Given the description of an element on the screen output the (x, y) to click on. 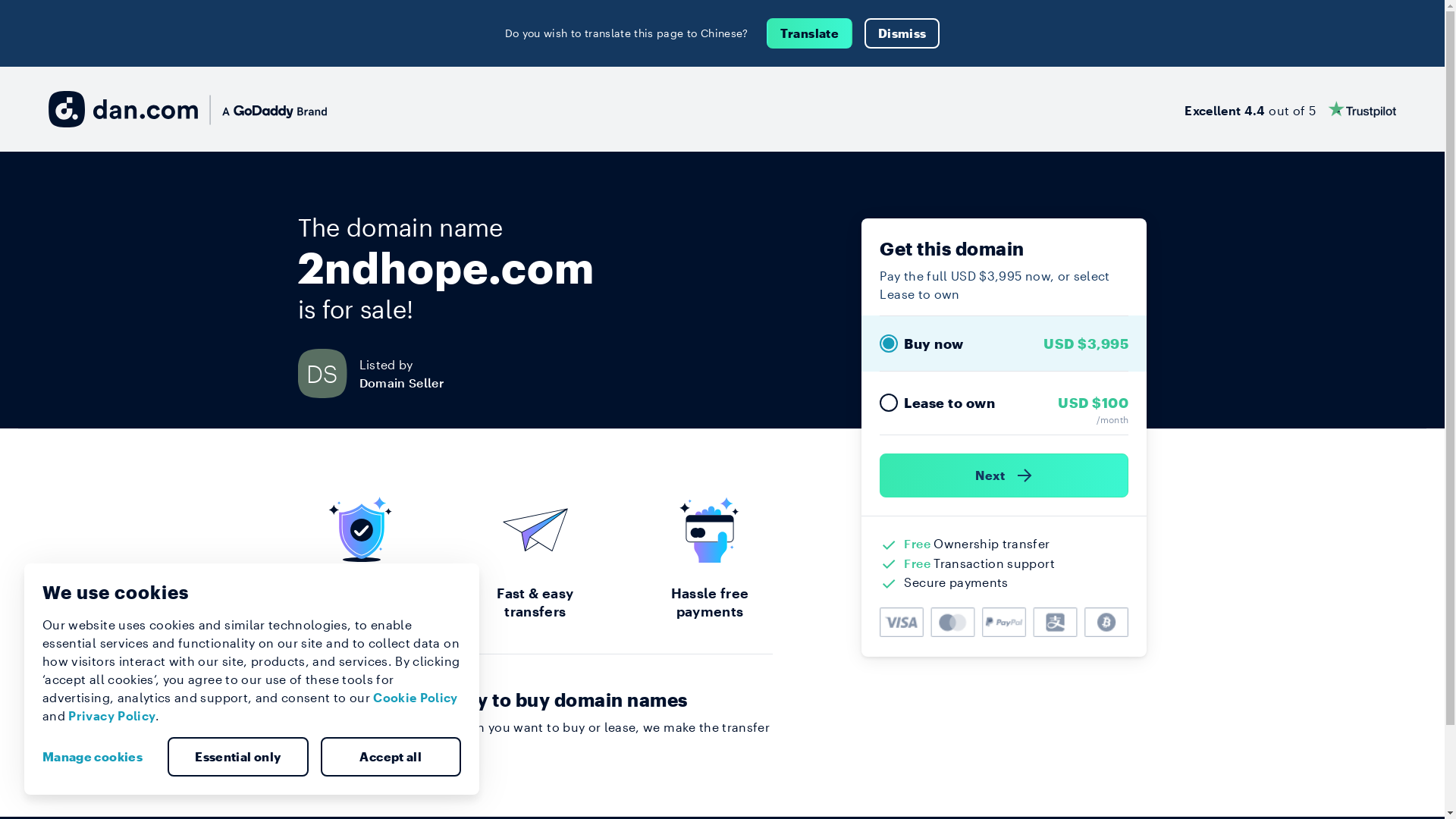
Cookie Policy Element type: text (415, 697)
Next
) Element type: text (1003, 475)
Dismiss Element type: text (901, 33)
Accept all Element type: text (390, 756)
Excellent 4.4 out of 5 Element type: text (1290, 109)
Privacy Policy Element type: text (111, 715)
Manage cookies Element type: text (98, 756)
Essential only Element type: text (237, 756)
Translate Element type: text (809, 33)
